Given the description of an element on the screen output the (x, y) to click on. 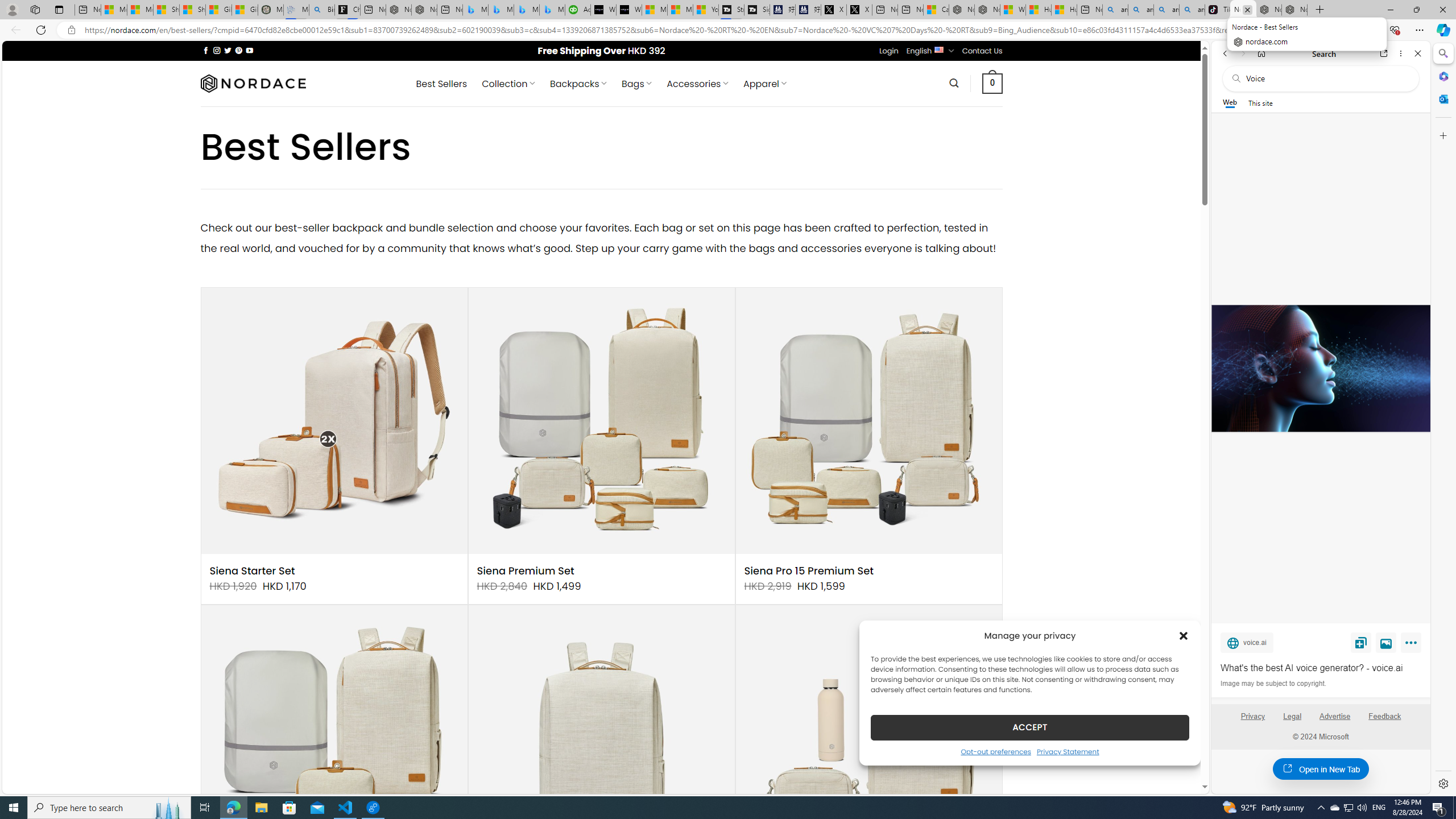
Side bar (1443, 418)
Gilma and Hector both pose tropical trouble for Hawaii (244, 9)
Siena Premium Set (525, 571)
Chloe Sorvino (347, 9)
X (858, 9)
 Best Sellers (441, 83)
TikTok (1216, 9)
Huge shark washes ashore at New York City beach | Watch (1063, 9)
Advertise (1334, 720)
Microsoft Bing Travel - Shangri-La Hotel Bangkok (551, 9)
